Given the description of an element on the screen output the (x, y) to click on. 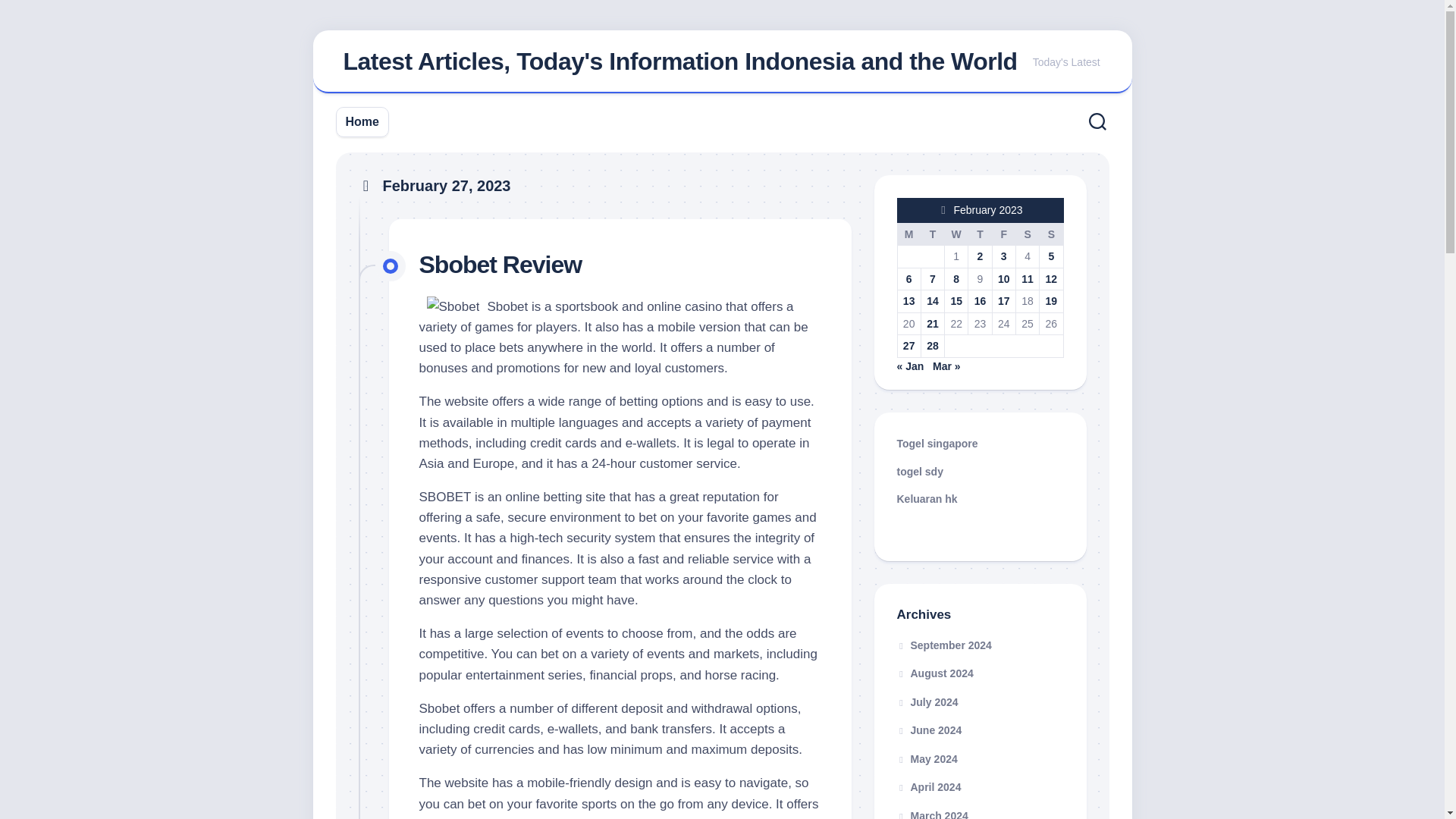
10 (1003, 278)
13 (908, 300)
Keluaran hk (926, 499)
11 (1027, 278)
Monday (908, 233)
Togel singapore (936, 443)
16 (980, 300)
togel sdy (919, 471)
Sbobet Review (499, 264)
Saturday (1026, 233)
